Given the description of an element on the screen output the (x, y) to click on. 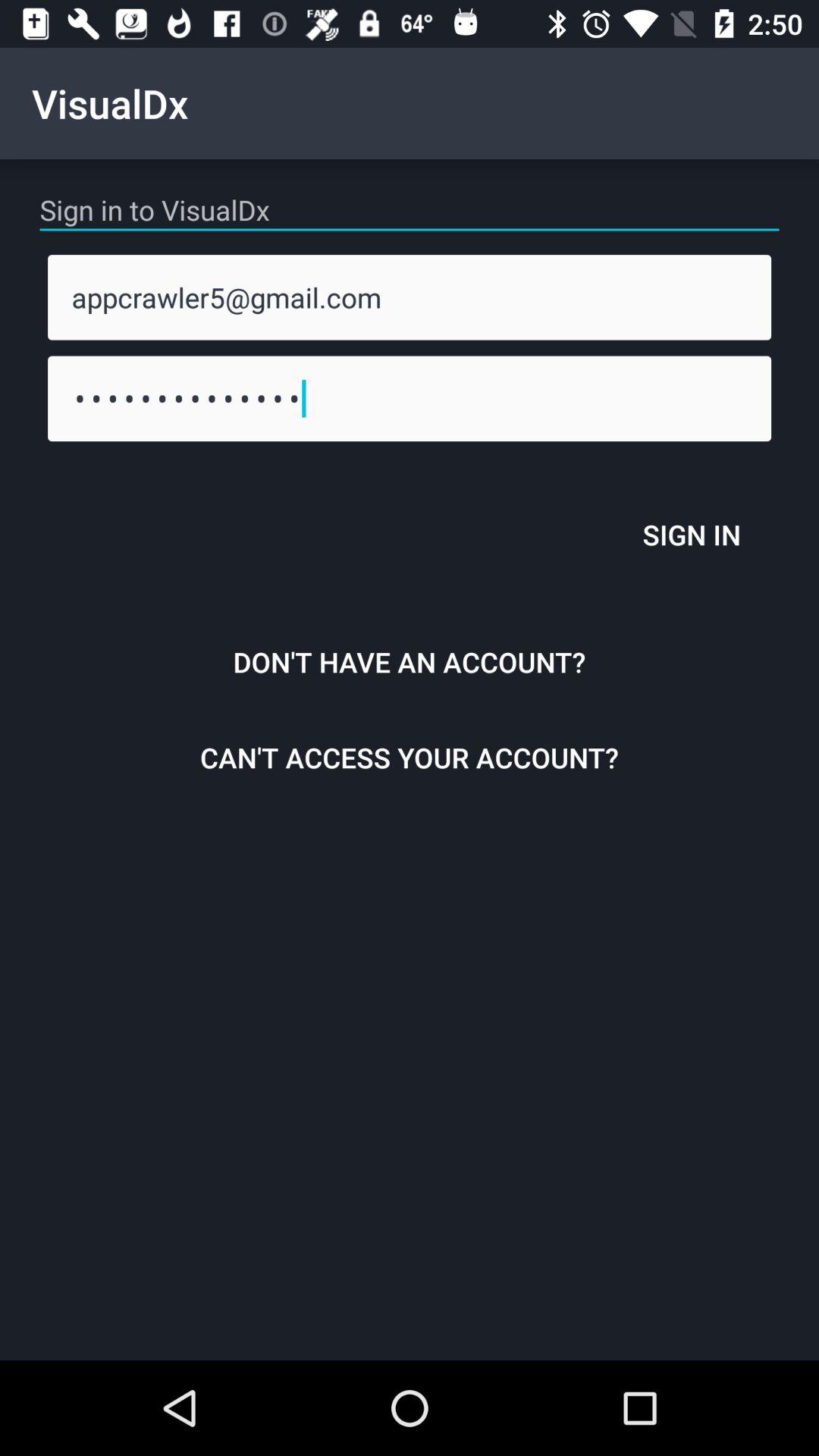
open the icon below the appcrawler5@gmail.com icon (409, 398)
